Given the description of an element on the screen output the (x, y) to click on. 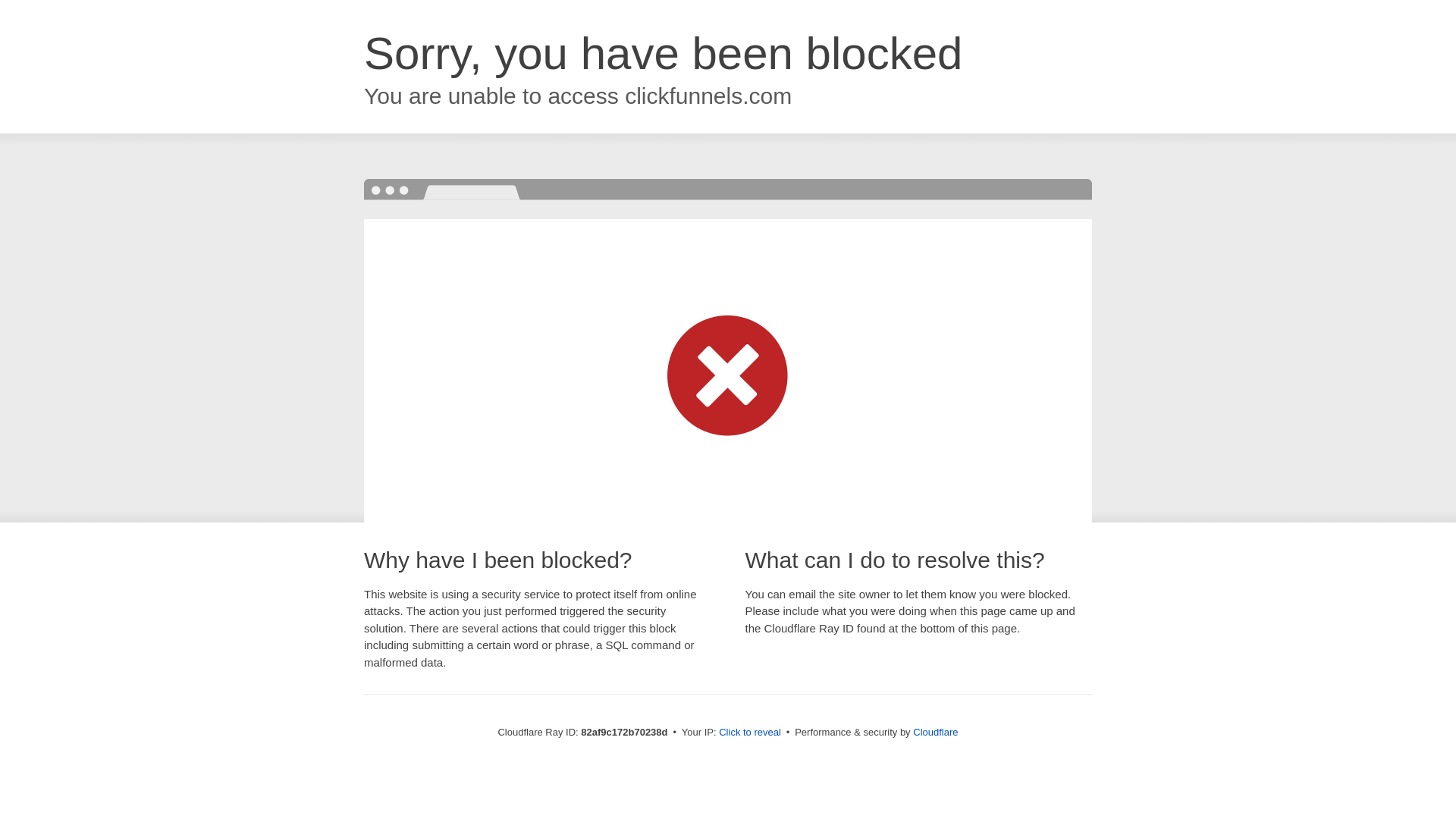
Click to reveal Element type: text (749, 732)
Cloudflare Element type: text (935, 731)
